Given the description of an element on the screen output the (x, y) to click on. 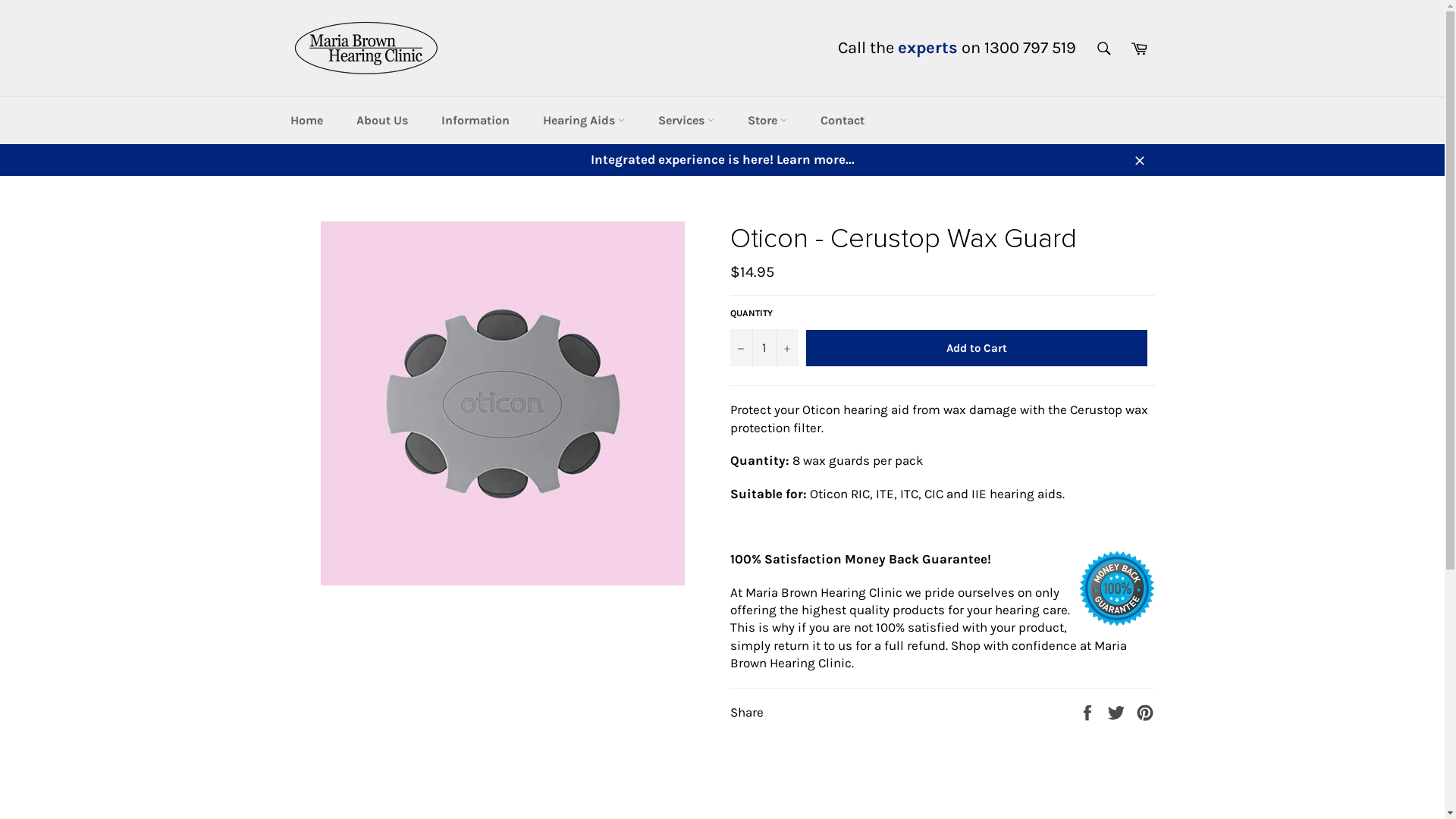
Hearing Aids Element type: text (583, 120)
Pin on Pinterest Element type: text (1144, 711)
About Us Element type: text (382, 120)
Close Element type: text (1138, 159)
Home Element type: text (305, 120)
+ Element type: text (786, 347)
Share on Facebook Element type: text (1088, 711)
Services Element type: text (686, 120)
Tweet on Twitter Element type: text (1117, 711)
Cart Element type: text (1138, 47)
Information Element type: text (475, 120)
Search Element type: text (1103, 47)
Add to Cart Element type: text (975, 347)
Integrated experience is here! Learn more... Element type: text (721, 159)
Store Element type: text (767, 120)
Contact Element type: text (842, 120)
